Given the description of an element on the screen output the (x, y) to click on. 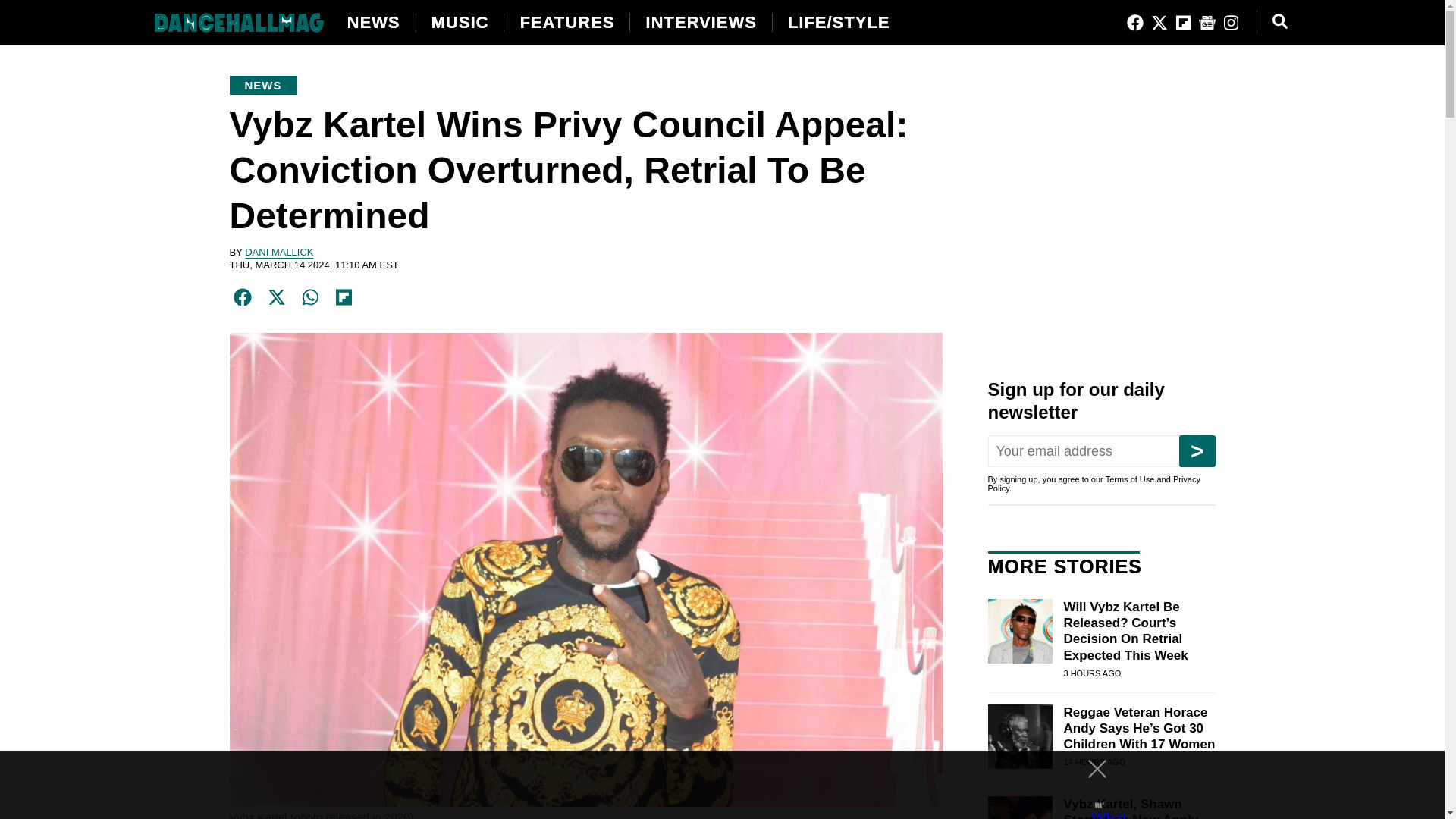
MUSIC (458, 22)
NEWS (373, 22)
INTERVIEWS (701, 22)
Privacy Policy (1093, 484)
Follow Us on Instagram (1230, 24)
Follow Us on Flipboard (1182, 24)
DANI MALLICK (278, 252)
Follow Us on Google News (1206, 24)
Send to friends on Whatsapp (310, 293)
Terms of Use (1129, 479)
Share on Facebook (241, 293)
Follow Us on Twitter (1159, 24)
Posts by Dani Mallick (278, 252)
Flip to Flipboard (344, 293)
Follow Us on Facebook (1134, 24)
